Given the description of an element on the screen output the (x, y) to click on. 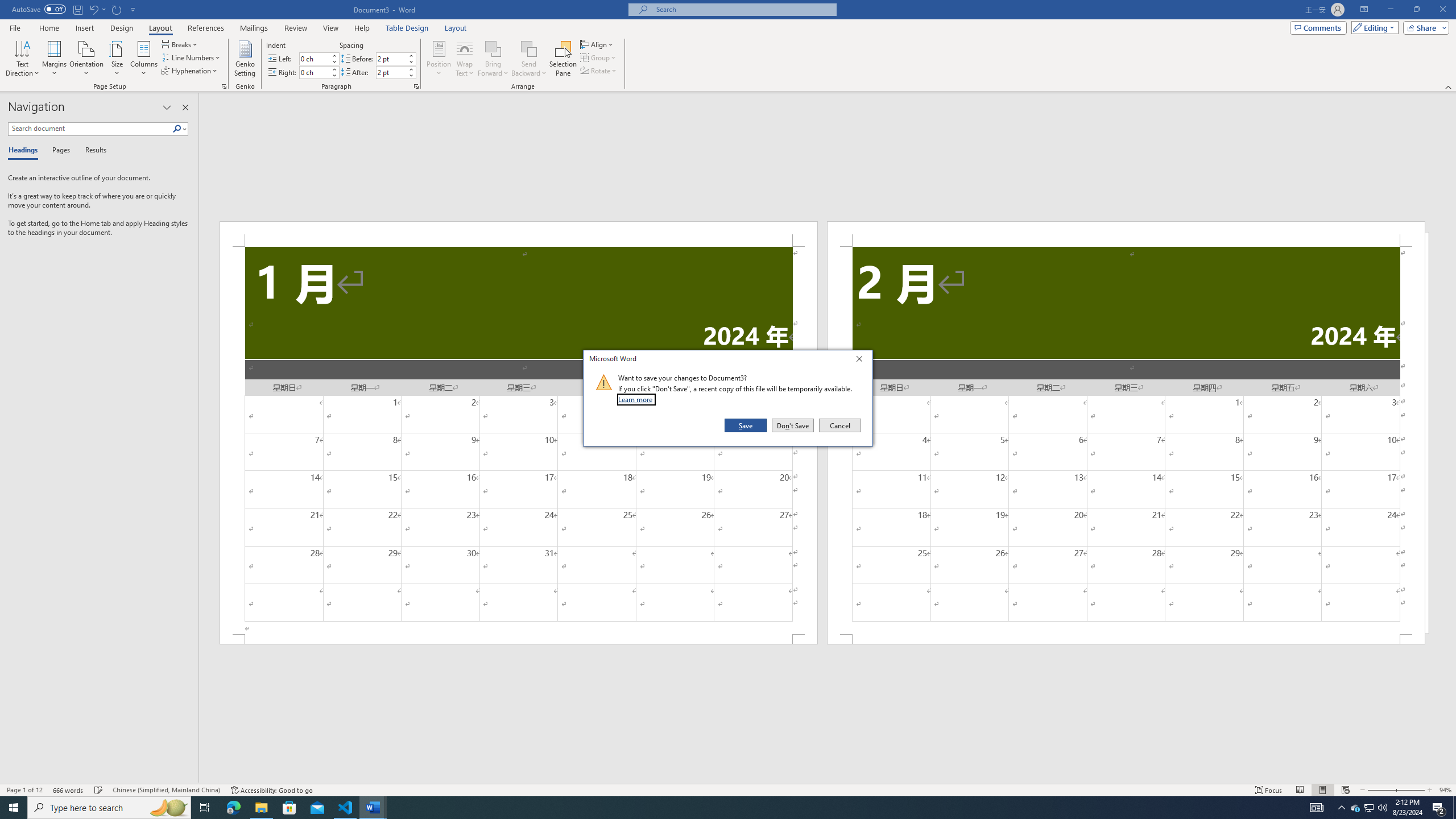
File Explorer - 1 running window (261, 807)
Genko Setting... (244, 58)
User Promoted Notification Area (1368, 807)
Mode (1372, 27)
Accessibility Checker Accessibility: Good to go (271, 790)
Text Direction (22, 58)
Spelling and Grammar Check Checking (98, 790)
Visual Studio Code - 1 running window (345, 807)
Type here to search (108, 807)
Microsoft search (742, 9)
Bring Forward (492, 58)
